Given the description of an element on the screen output the (x, y) to click on. 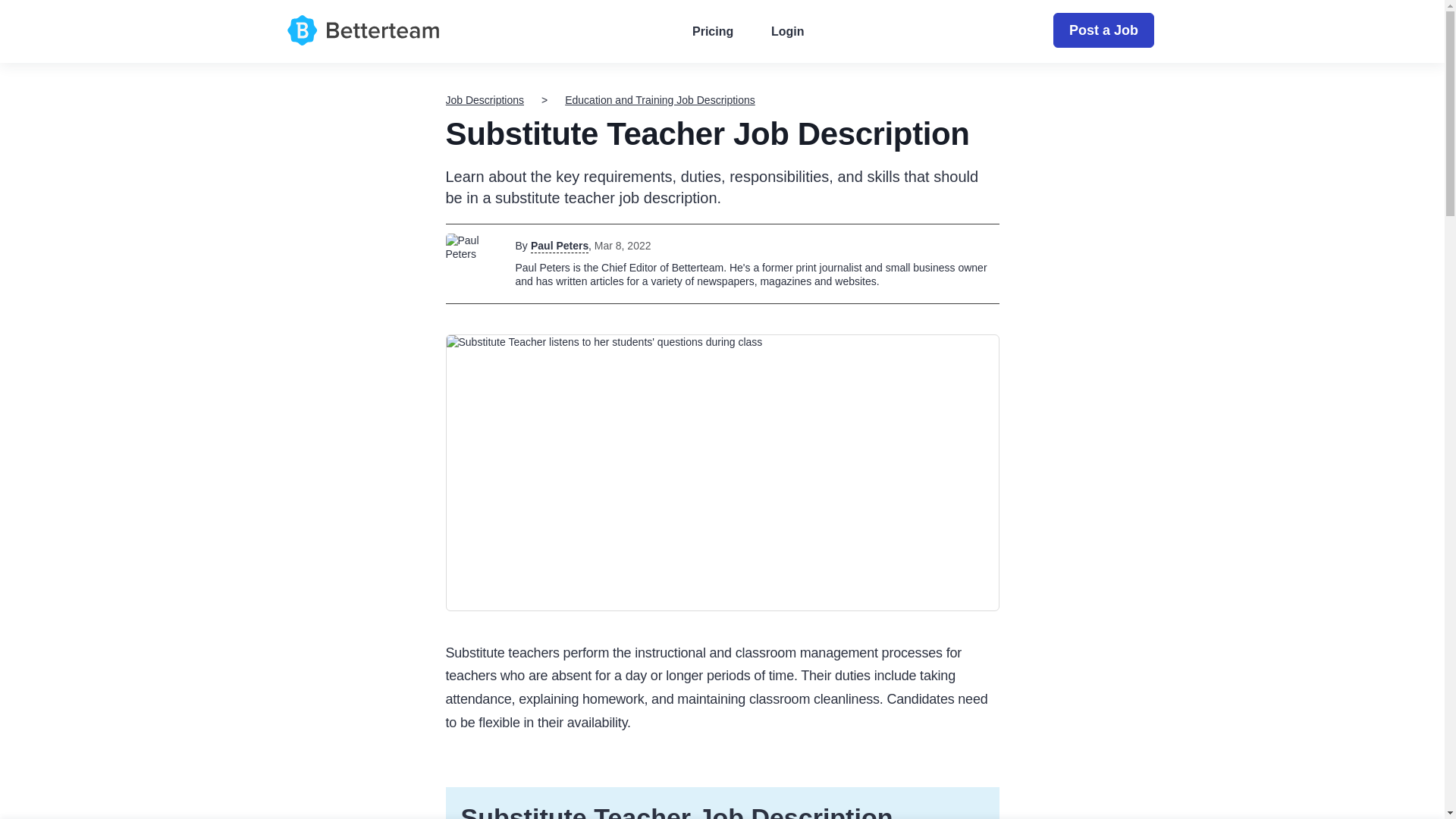
Login (787, 31)
Paul Peters (559, 246)
Post a Job (1103, 30)
Education and Training Job Descriptions (659, 100)
Job Descriptions (484, 100)
Pricing (712, 31)
